Given the description of an element on the screen output the (x, y) to click on. 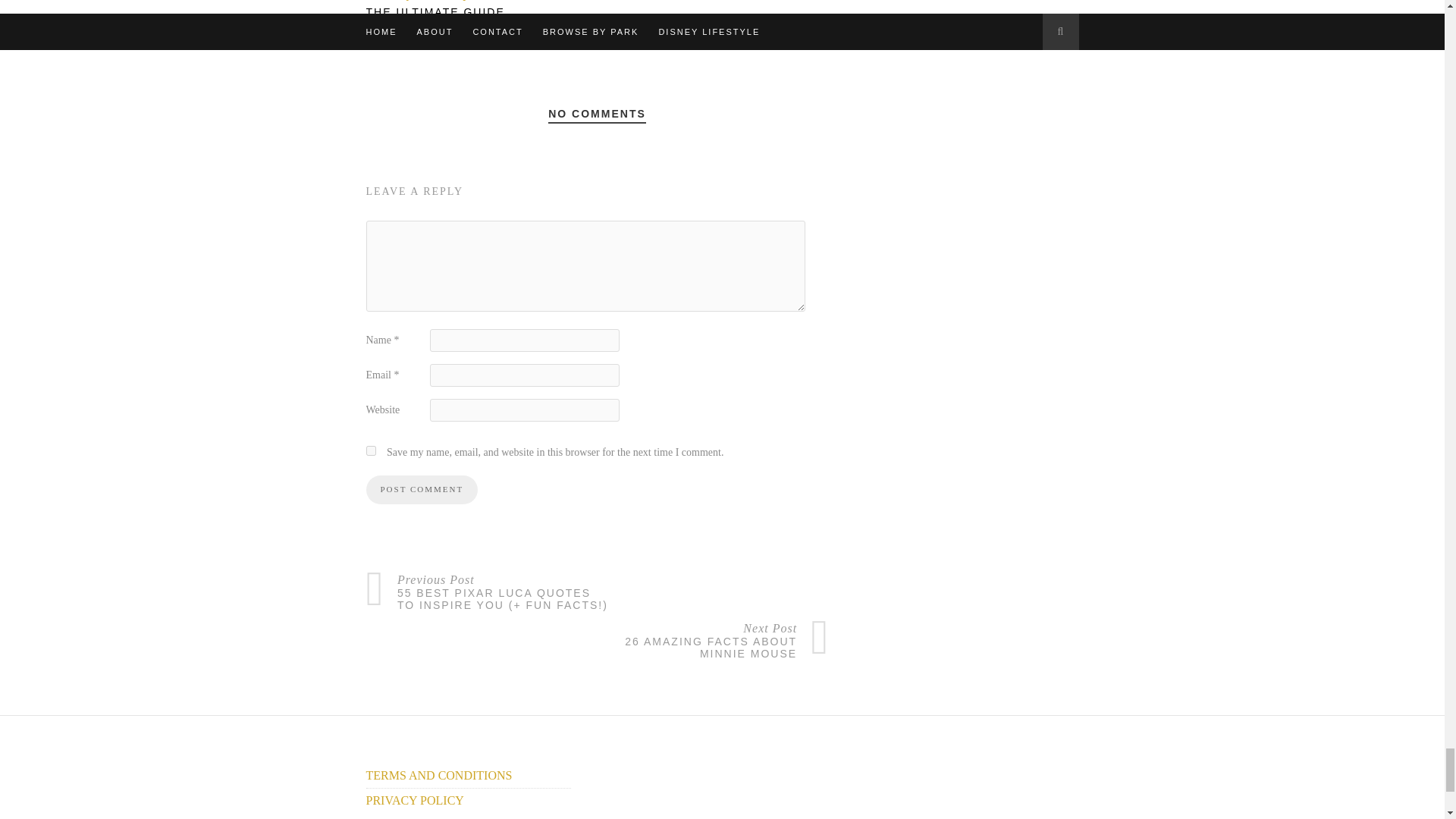
yes (370, 450)
Post Comment (421, 489)
